Given the description of an element on the screen output the (x, y) to click on. 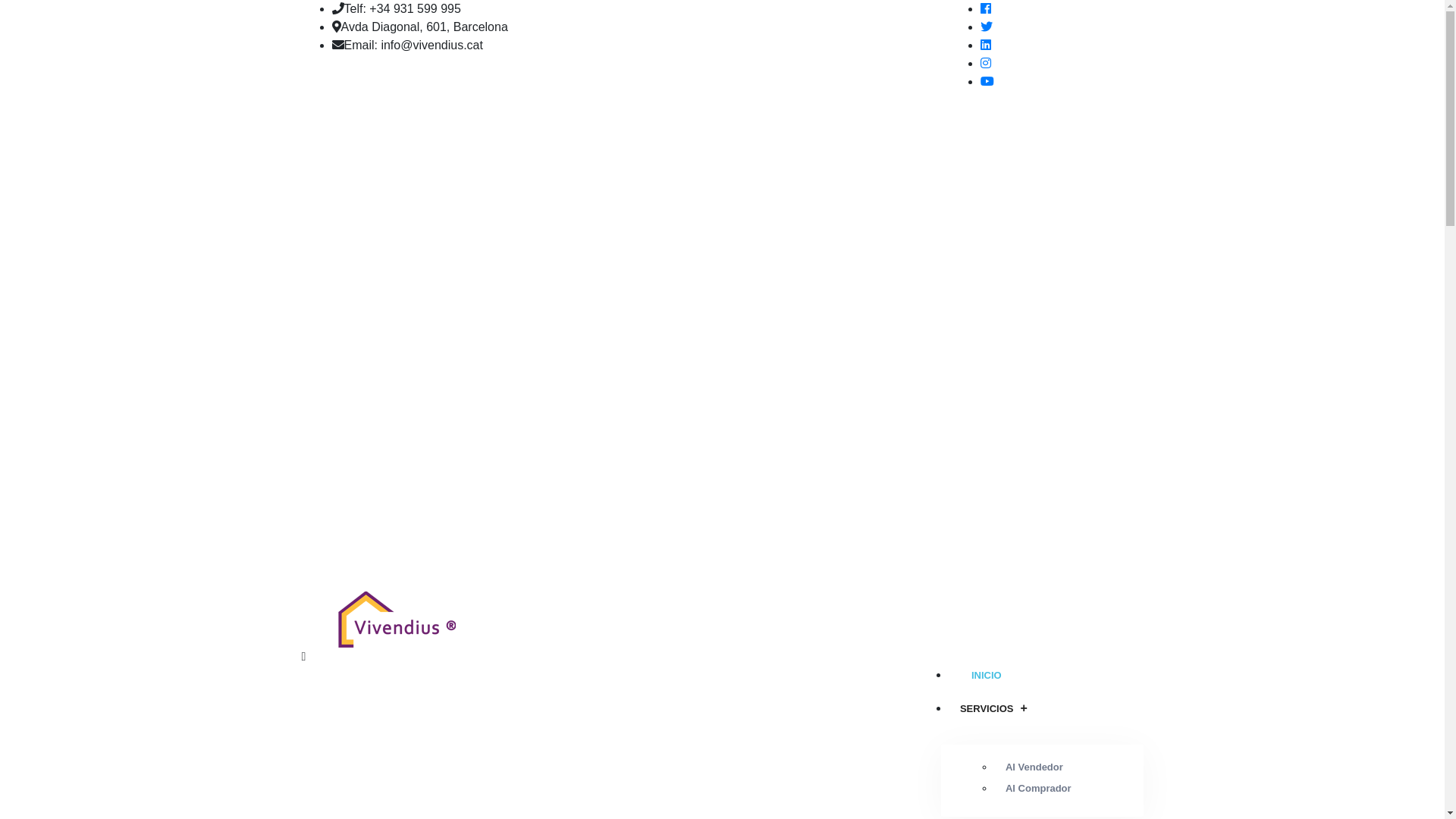
INICIO Element type: text (977, 665)
Al Vendedor Element type: text (1034, 766)
Al Comprador Element type: text (1038, 787)
